Given the description of an element on the screen output the (x, y) to click on. 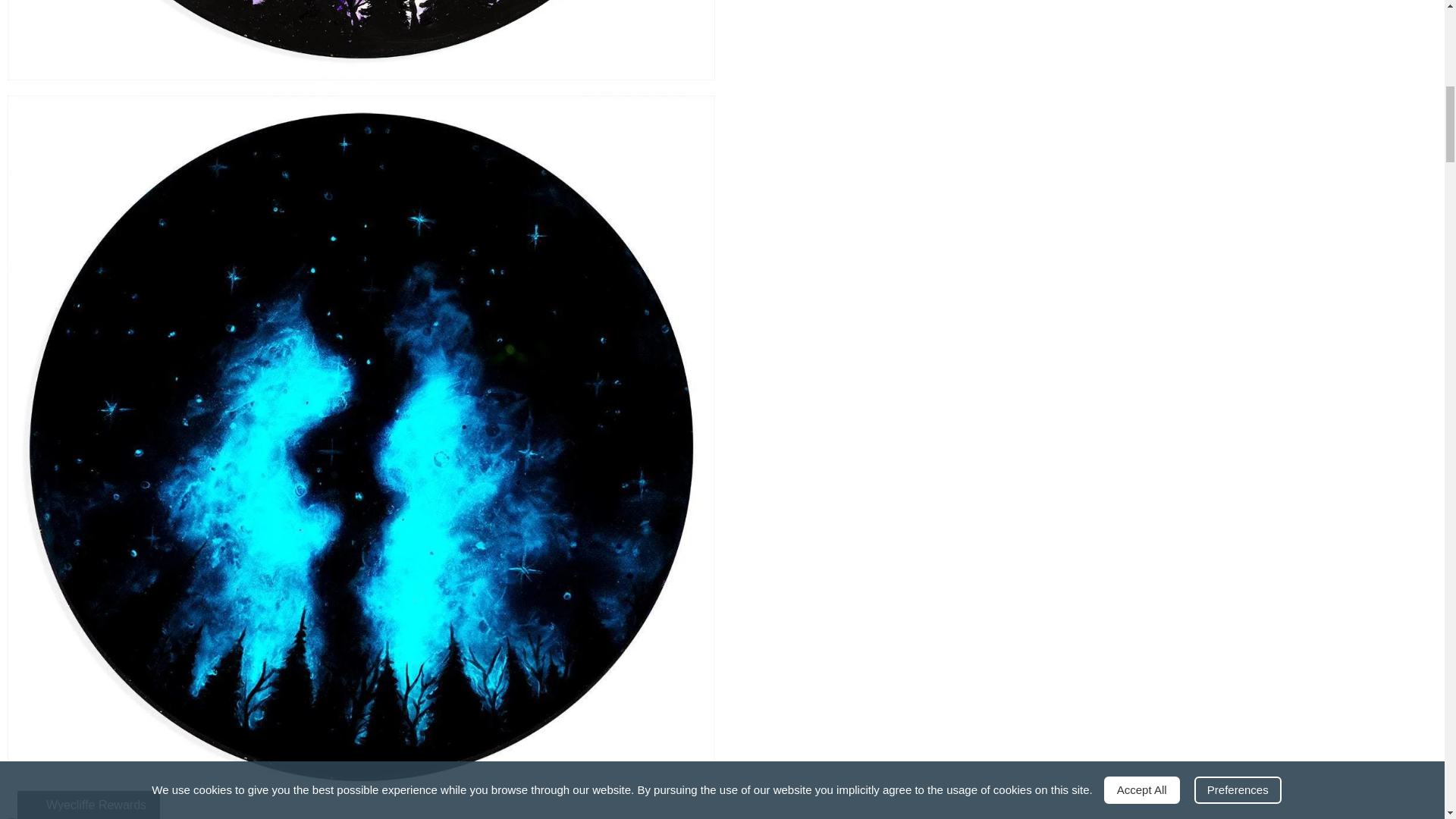
The Night Sky - Original Becky Smith Original (360, 40)
